Given the description of an element on the screen output the (x, y) to click on. 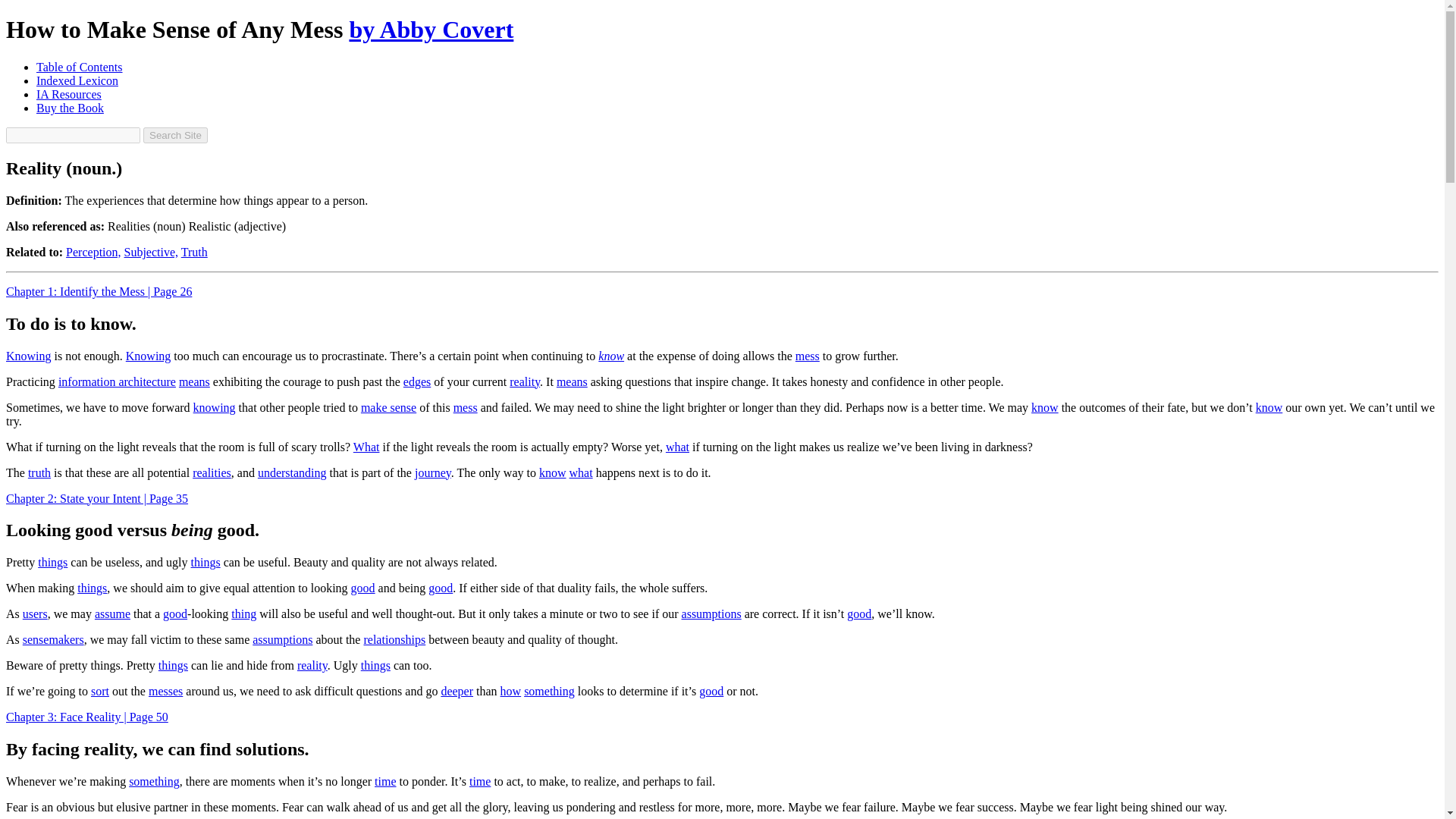
means (194, 380)
mess (464, 406)
what (580, 472)
Knowing (148, 354)
things (91, 587)
by Abby Covert (431, 29)
means (572, 380)
understanding (291, 472)
things (51, 562)
Indexed Lexicon (76, 80)
